Given the description of an element on the screen output the (x, y) to click on. 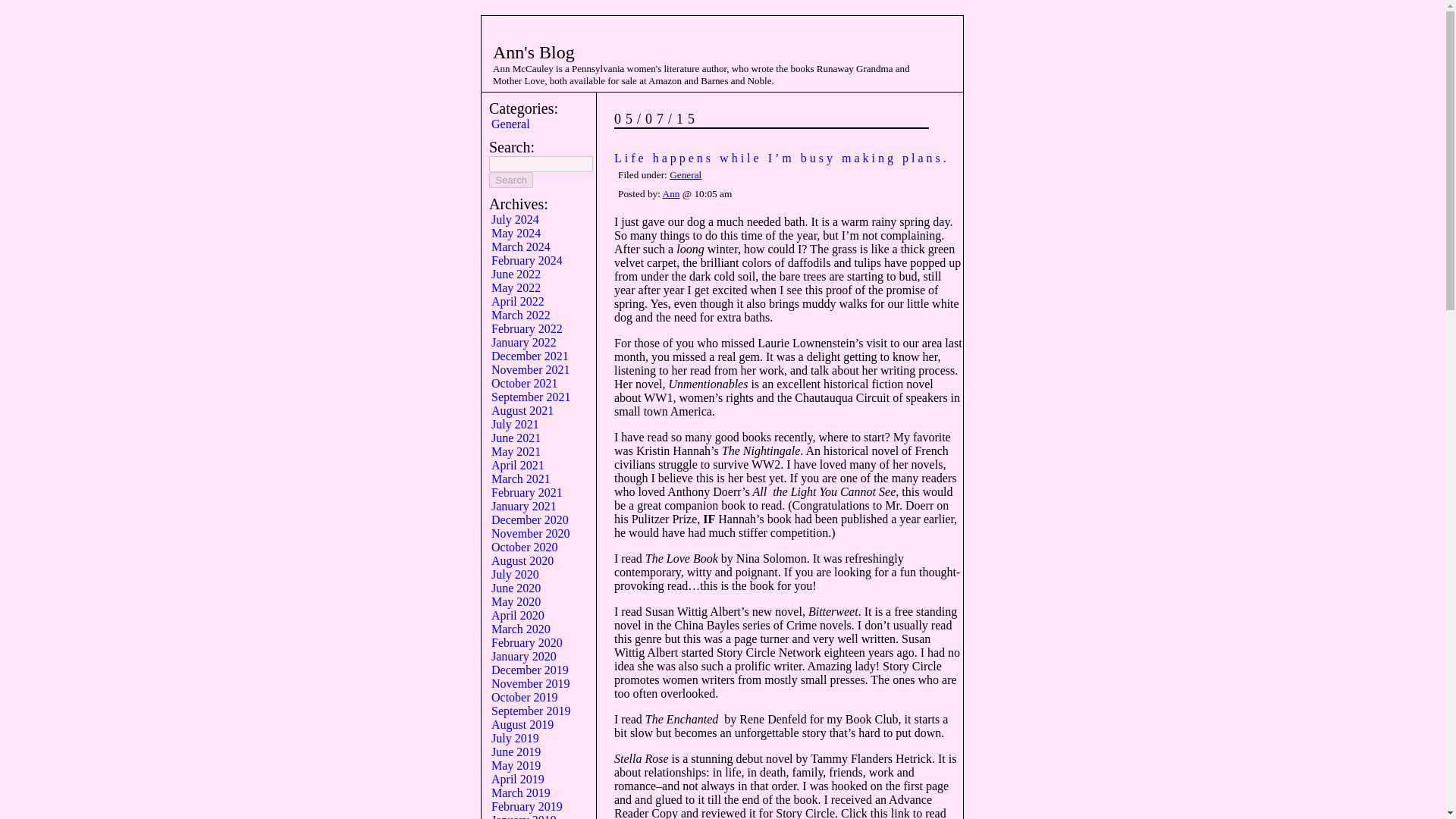
September 2021 (531, 396)
February 2020 (527, 642)
May 2024 (516, 232)
August 2019 (522, 724)
December 2021 (530, 355)
May 2022 (516, 287)
August 2020 (522, 560)
August 2021 (522, 410)
August 2021 (522, 410)
March 2024 (521, 246)
